Given the description of an element on the screen output the (x, y) to click on. 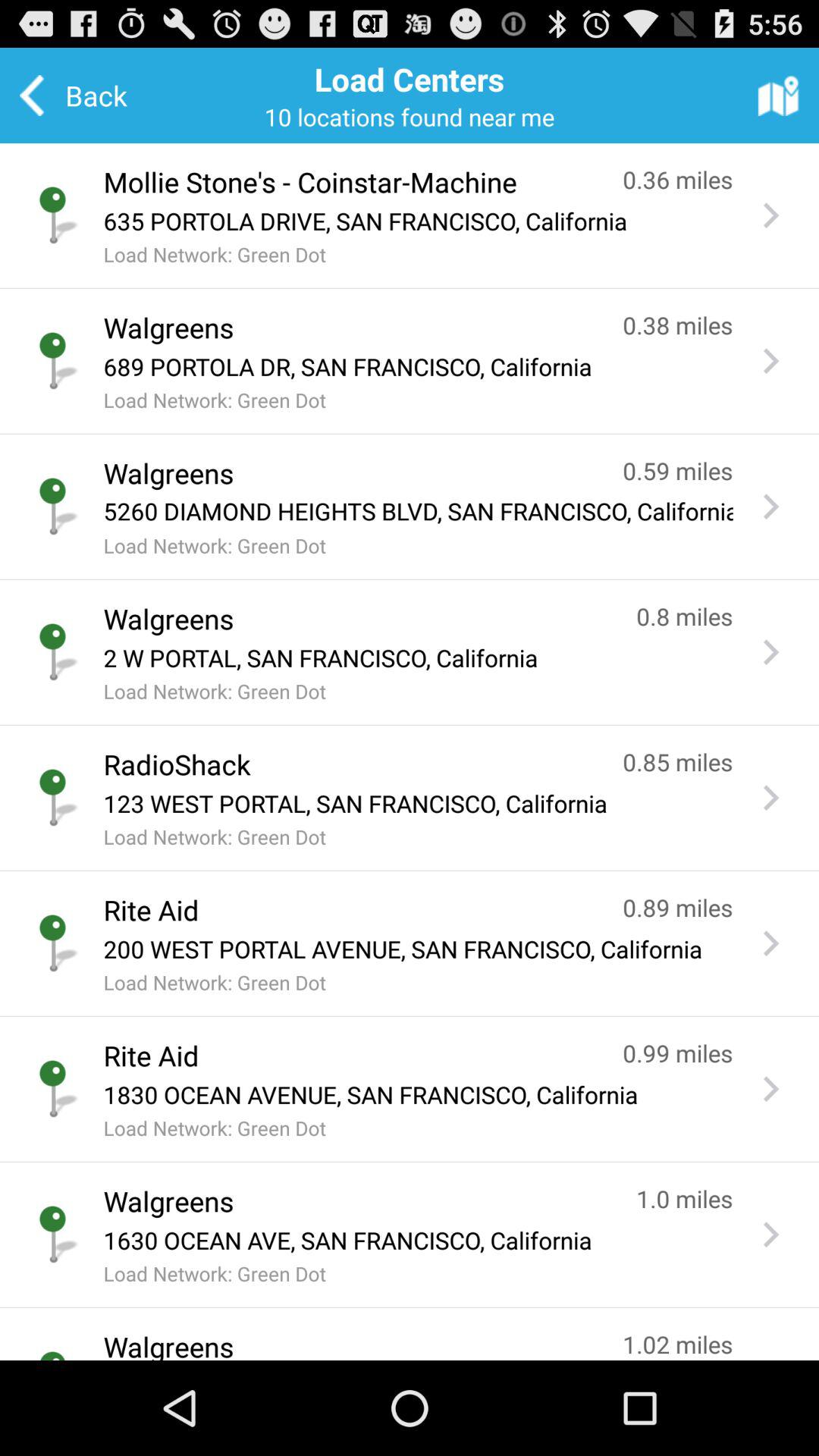
choose back button (83, 95)
